Given the description of an element on the screen output the (x, y) to click on. 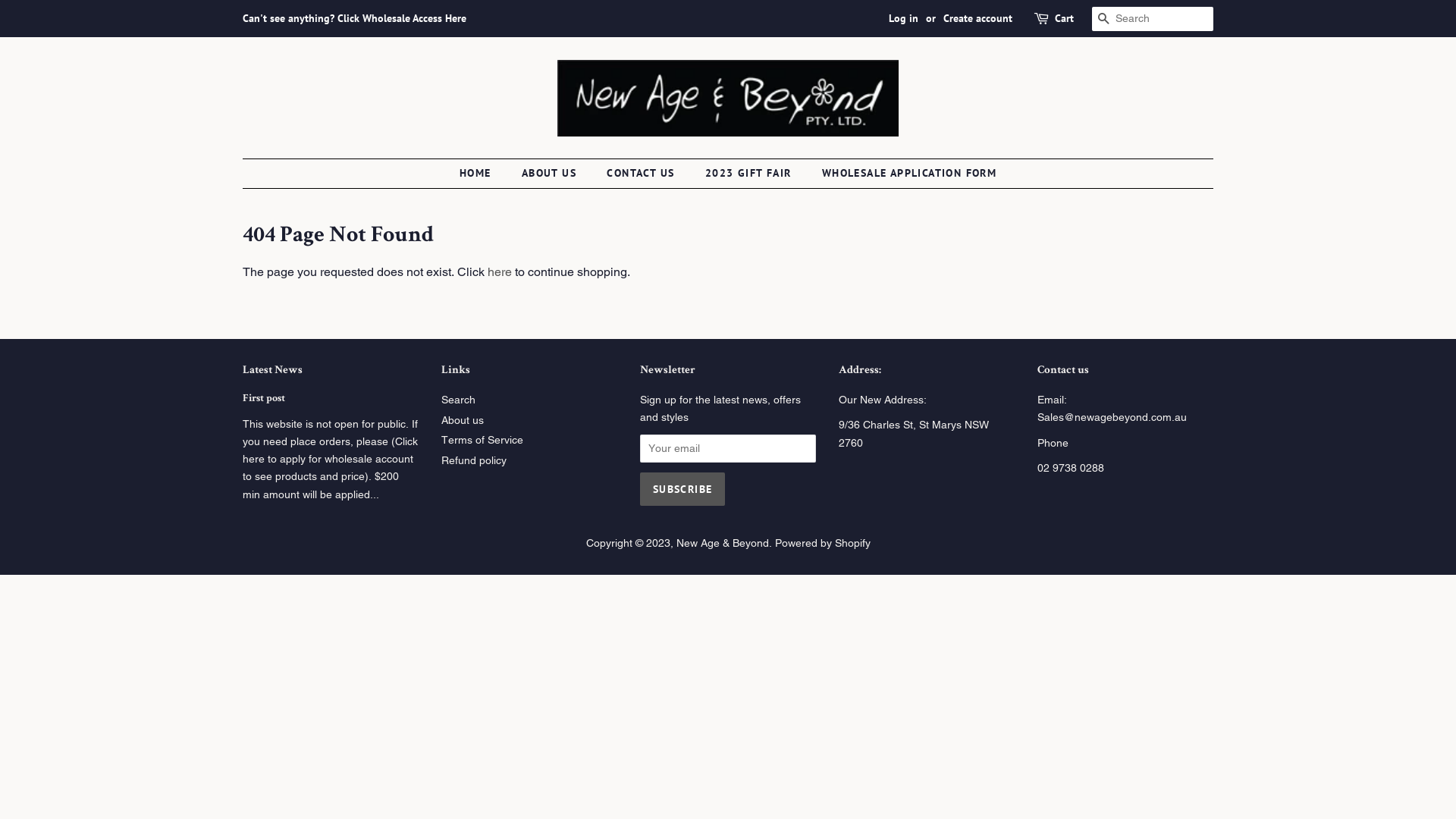
2023 GIFT FAIR Element type: text (749, 173)
Latest News Element type: text (272, 370)
Subscribe Element type: text (682, 488)
Can't see anything? Click Wholesale Access Here Element type: text (354, 18)
Terms of Service Element type: text (482, 439)
About us Element type: text (462, 420)
First post Element type: text (263, 398)
Search Element type: text (458, 399)
Cart Element type: text (1063, 18)
Log in Element type: text (903, 18)
CONTACT US Element type: text (642, 173)
Powered by Shopify Element type: text (822, 542)
New Age & Beyond Element type: text (722, 542)
WHOLESALE APPLICATION FORM Element type: text (903, 173)
ABOUT US Element type: text (550, 173)
SEARCH Element type: text (1104, 18)
Create account Element type: text (977, 18)
here Element type: text (499, 271)
HOME Element type: text (482, 173)
Refund policy Element type: text (473, 460)
